Given the description of an element on the screen output the (x, y) to click on. 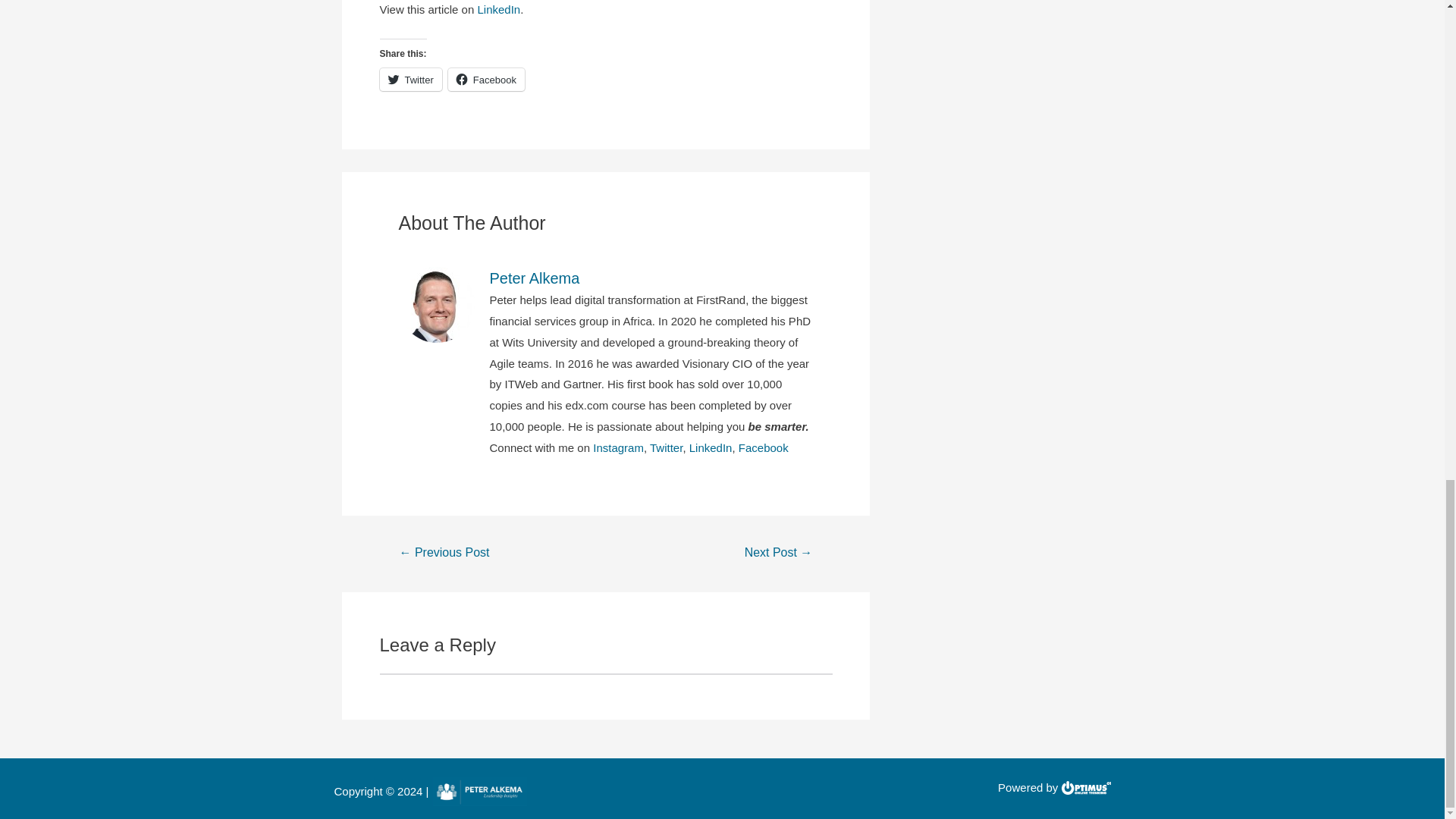
Twitter (665, 447)
Facebook (486, 78)
LinkedIn (498, 9)
Twitter (409, 78)
Instagram (617, 447)
Click to share on Twitter (409, 78)
Peter Alkema (650, 277)
Click to share on Facebook (486, 78)
LinkedIn (710, 447)
